Given the description of an element on the screen output the (x, y) to click on. 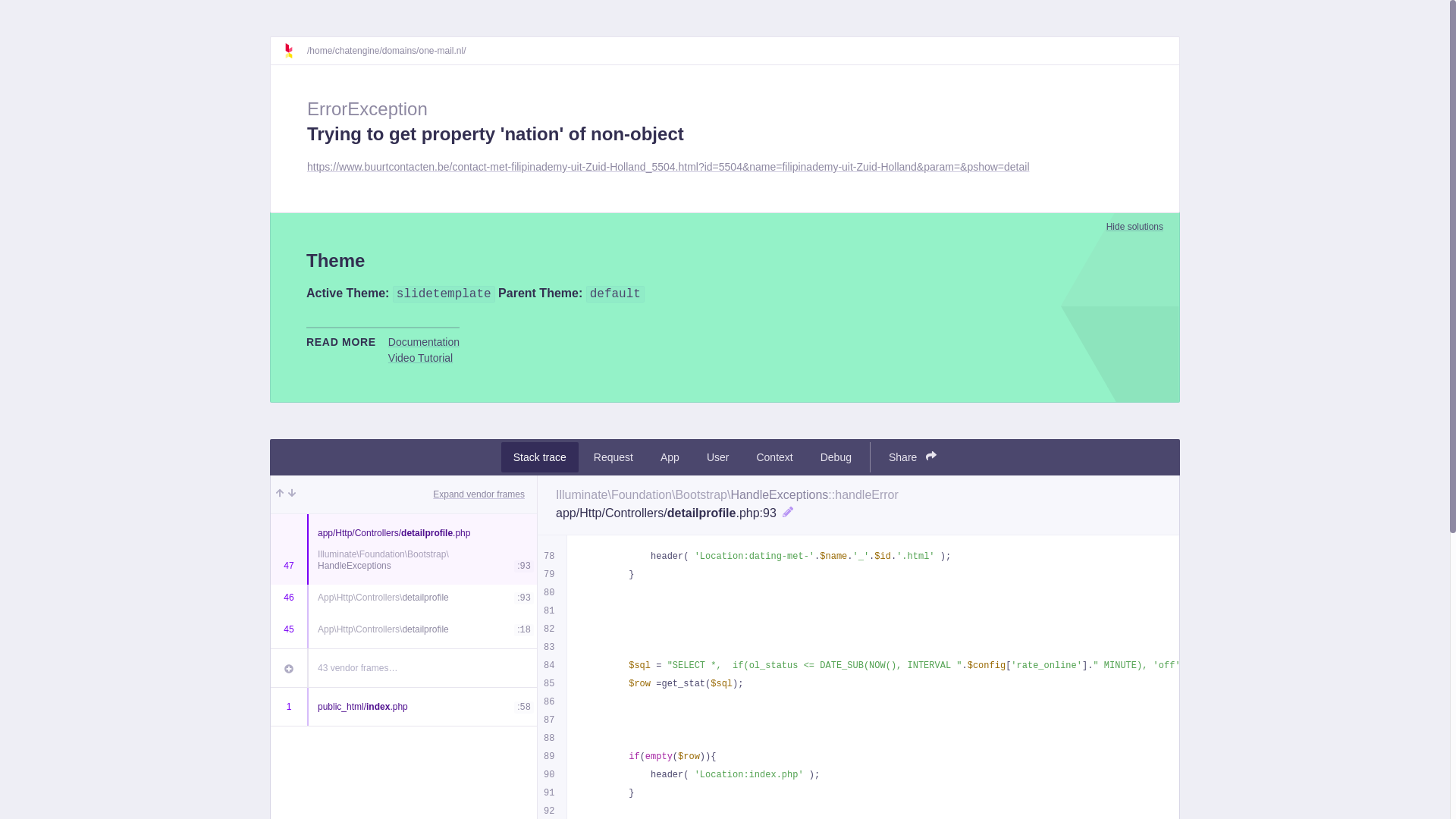
Frame down (Key:J) Element type: hover (291, 494)
Frame up (Key:K) Element type: hover (279, 494)
Documentation Element type: text (423, 341)
Expand vendor frames Element type: text (478, 494)
Hide solutions Element type: text (1134, 226)
App Element type: text (669, 457)
Request Element type: text (613, 457)
Context Element type: text (773, 457)
Stack trace Element type: text (539, 457)
Ignition docs Element type: hover (294, 50)
Debug Element type: text (835, 457)
User Element type: text (717, 457)
Share Element type: text (912, 457)
Video Tutorial Element type: text (420, 357)
